Given the description of an element on the screen output the (x, y) to click on. 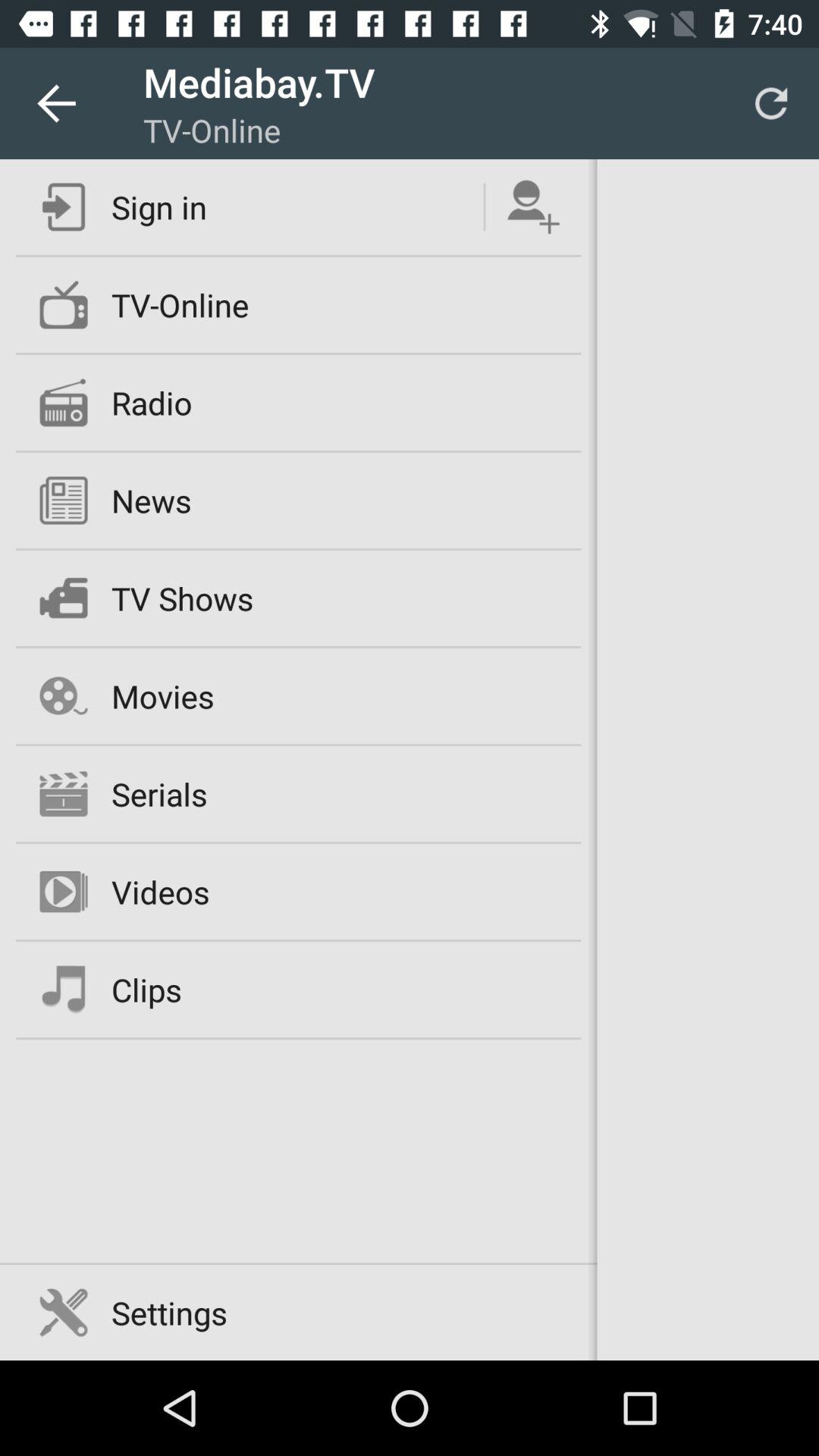
open clips icon (146, 989)
